Given the description of an element on the screen output the (x, y) to click on. 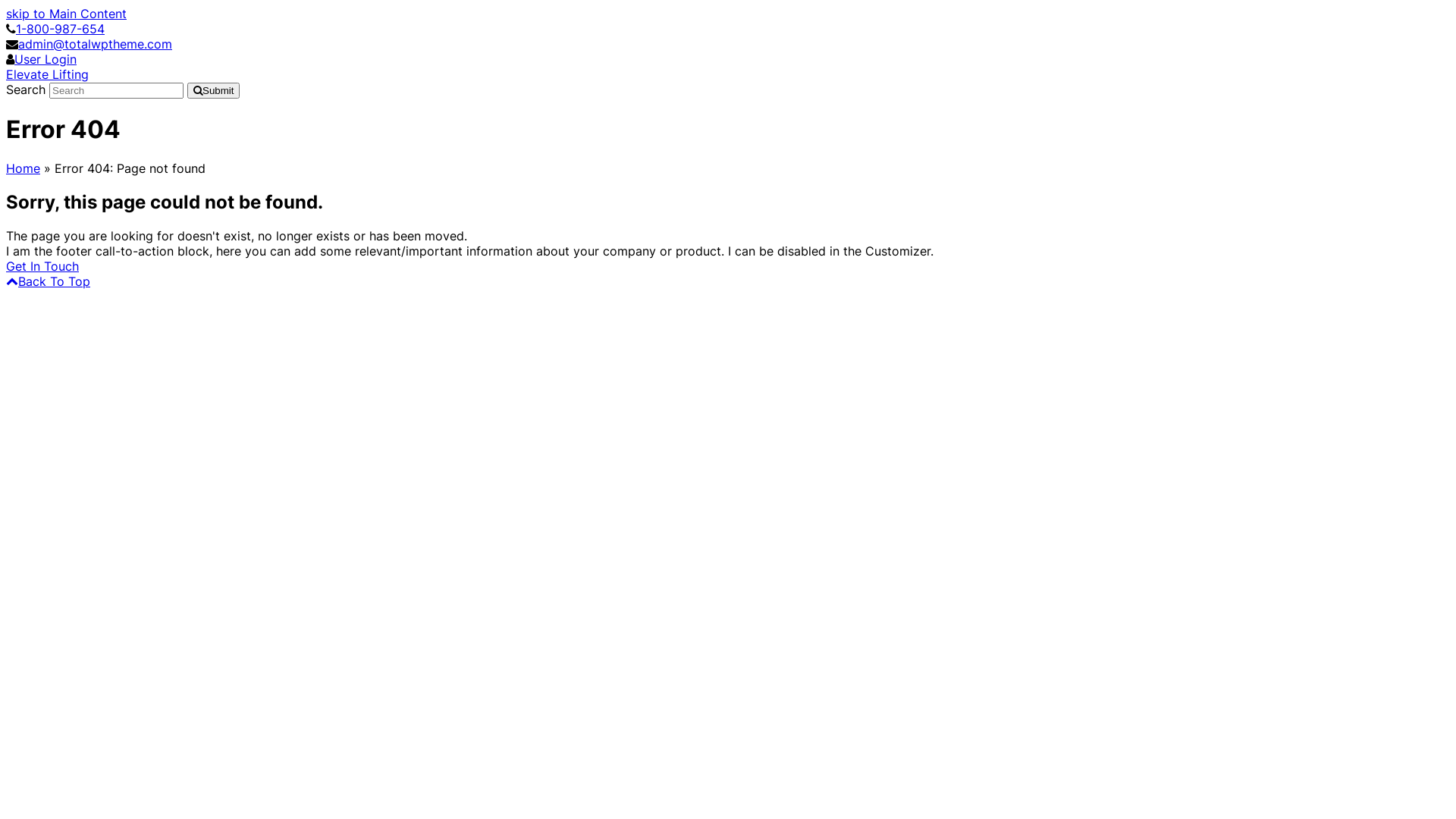
Back To Top Element type: text (48, 280)
Get In Touch Element type: text (42, 265)
admin@totalwptheme.com Element type: text (95, 43)
Elevate Lifting Element type: text (47, 73)
User Login Element type: text (45, 58)
Submit Element type: text (213, 90)
skip to Main Content Element type: text (66, 13)
Home Element type: text (23, 167)
1-800-987-654 Element type: text (59, 28)
